Given the description of an element on the screen output the (x, y) to click on. 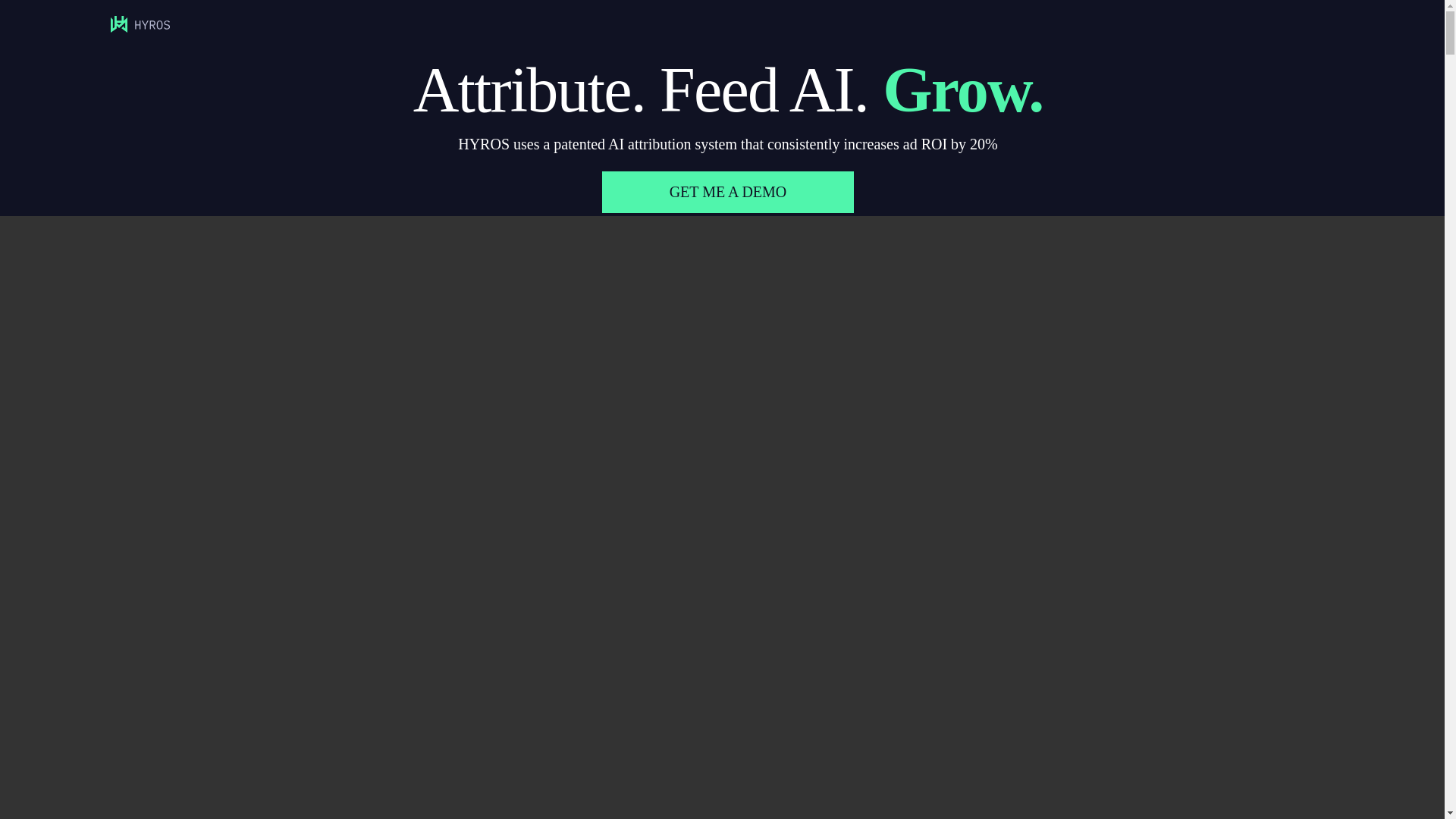
GET ME A DEMO (728, 191)
